Given the description of an element on the screen output the (x, y) to click on. 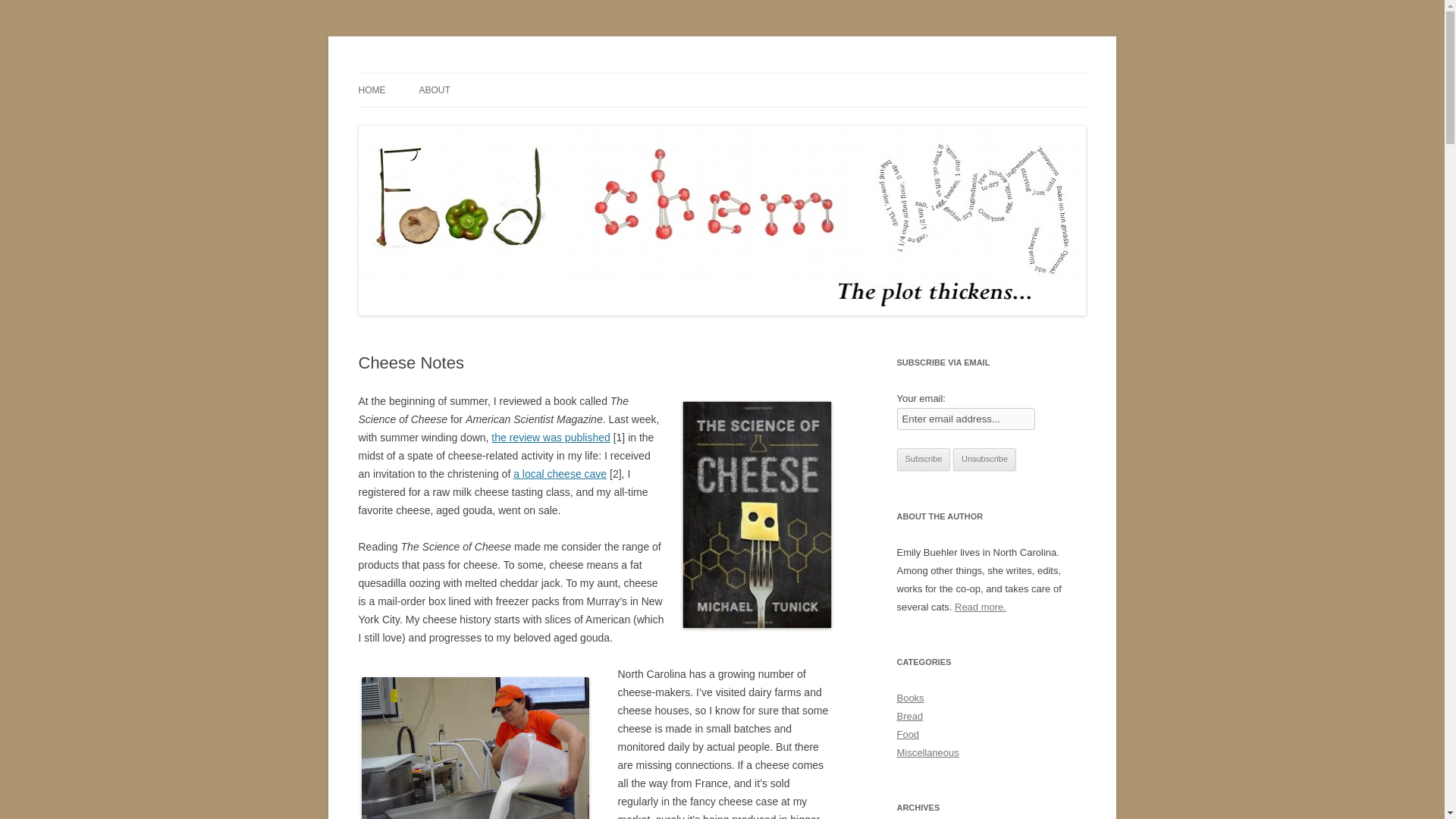
the review was published (551, 437)
Unsubscribe (984, 458)
cheese cave (560, 473)
Food Chem Blog (436, 72)
Enter email address... (965, 418)
a local cheese cave (560, 473)
HOME (371, 90)
science of cheese review (551, 437)
ABOUT (434, 90)
Subscribe (923, 458)
